Given the description of an element on the screen output the (x, y) to click on. 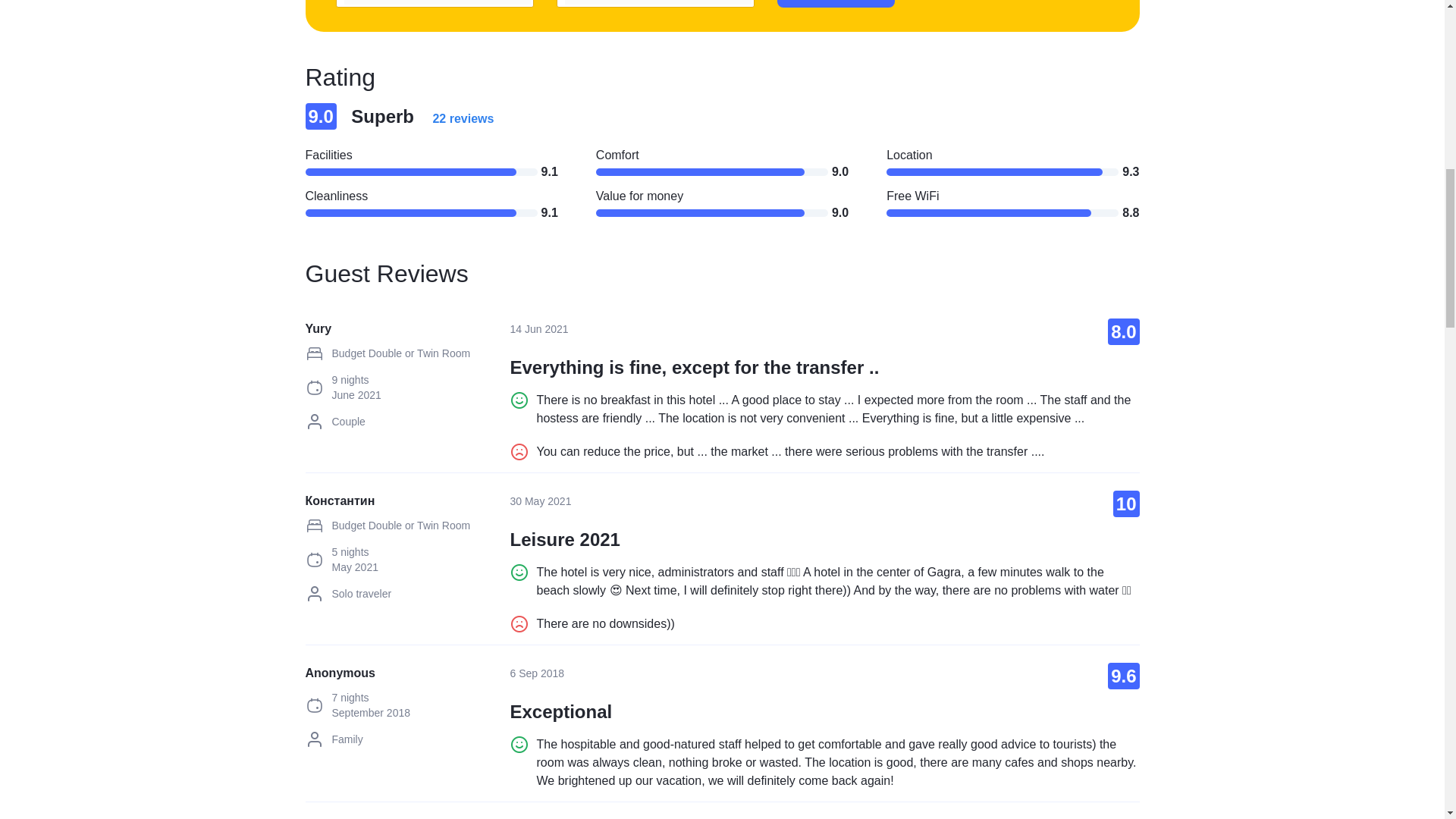
Check prices (835, 3)
